Given the description of an element on the screen output the (x, y) to click on. 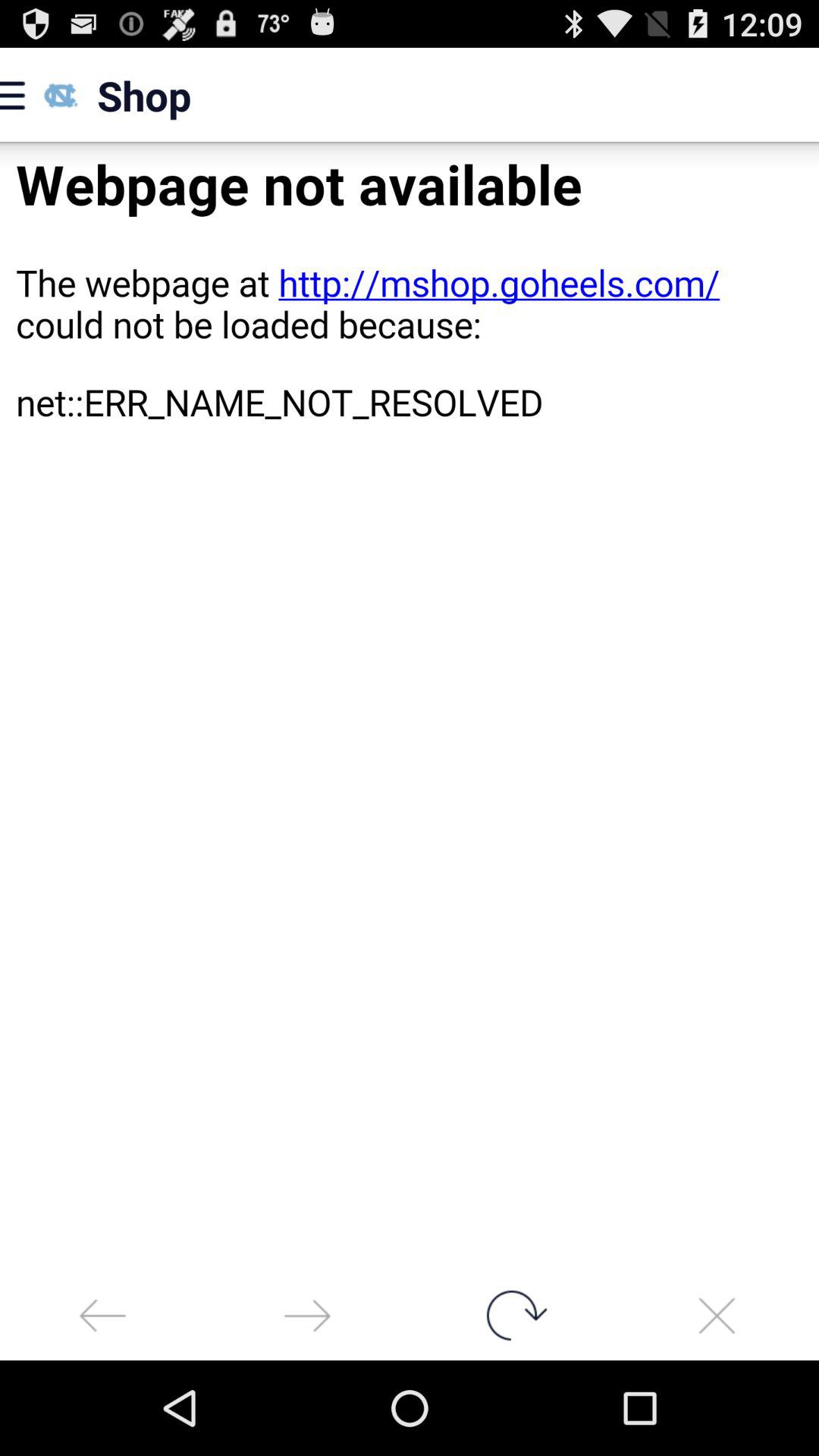
refresh content (511, 1315)
